Given the description of an element on the screen output the (x, y) to click on. 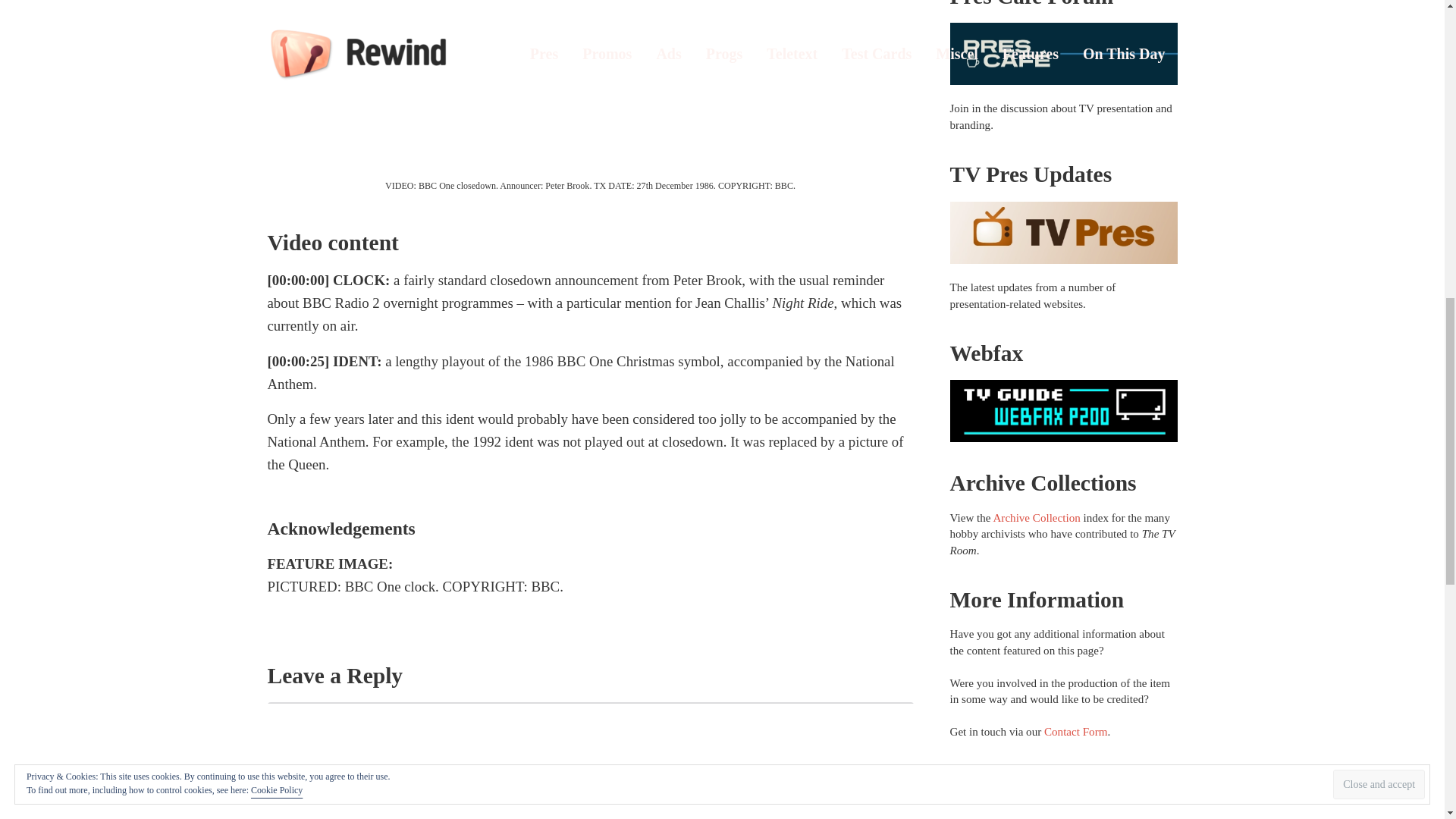
Comment Form (589, 760)
